Given the description of an element on the screen output the (x, y) to click on. 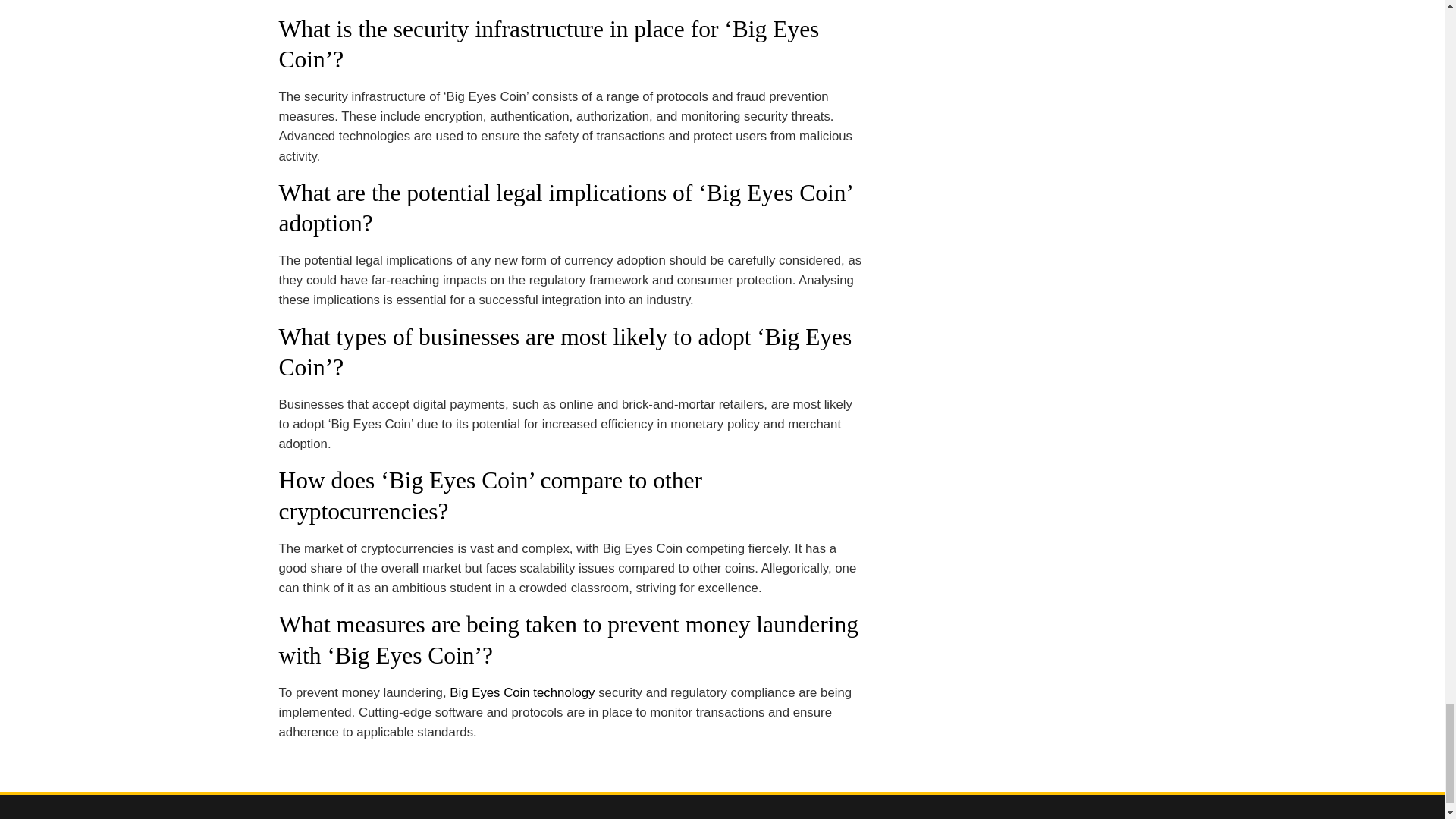
Big Eyes Coin technology (521, 692)
Big Eyes Coin technology (521, 692)
WordPress Theme - Total (678, 818)
